Given the description of an element on the screen output the (x, y) to click on. 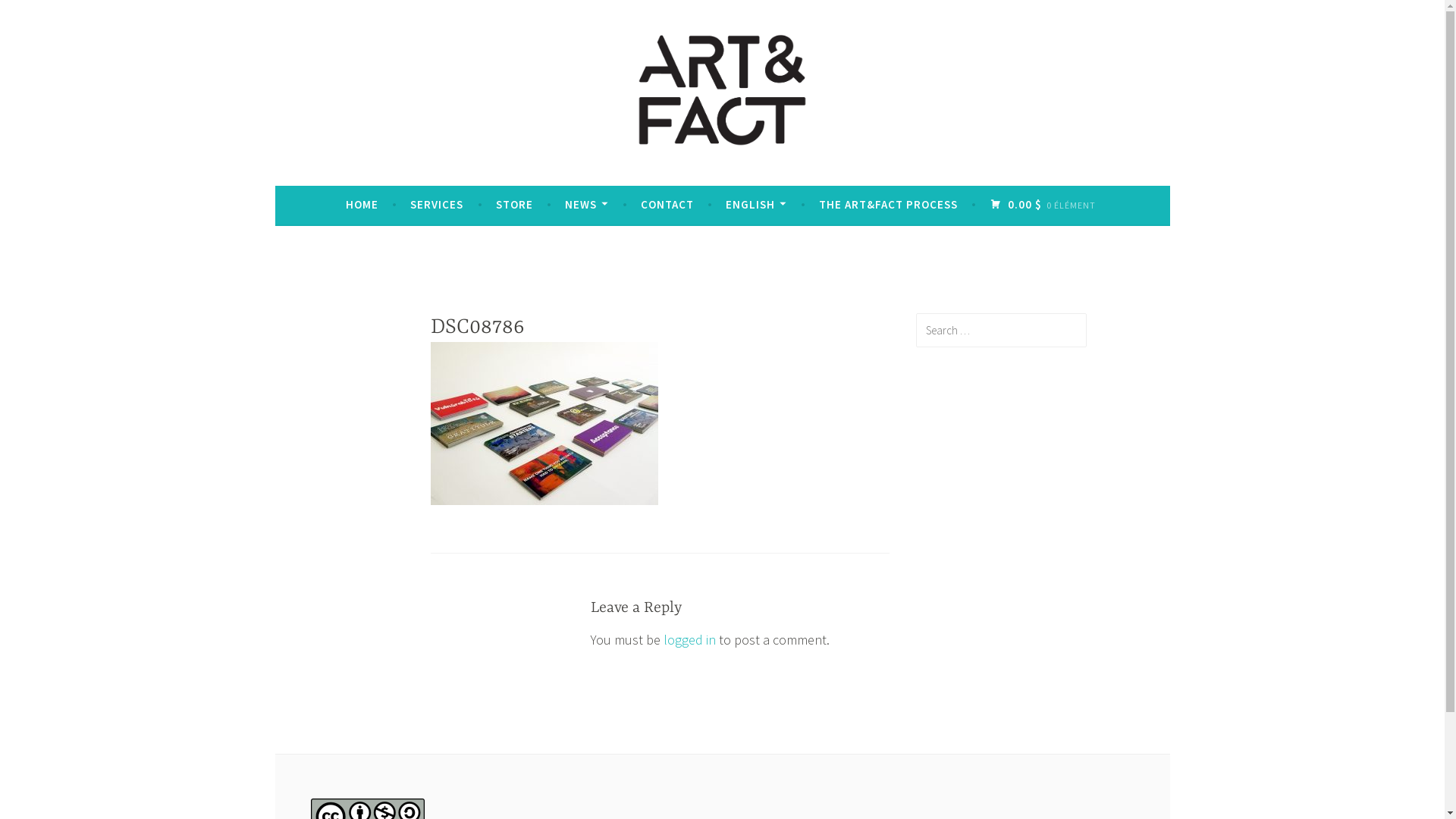
logged in Element type: text (688, 639)
HOME Element type: text (361, 204)
NEWS Element type: text (586, 204)
Search Element type: text (33, 15)
THE ART&FACT PROCESS Element type: text (888, 204)
ENGLISH Element type: text (755, 204)
CONTACT Element type: text (666, 204)
SERVICES Element type: text (436, 204)
STORE Element type: text (514, 204)
